Given the description of an element on the screen output the (x, y) to click on. 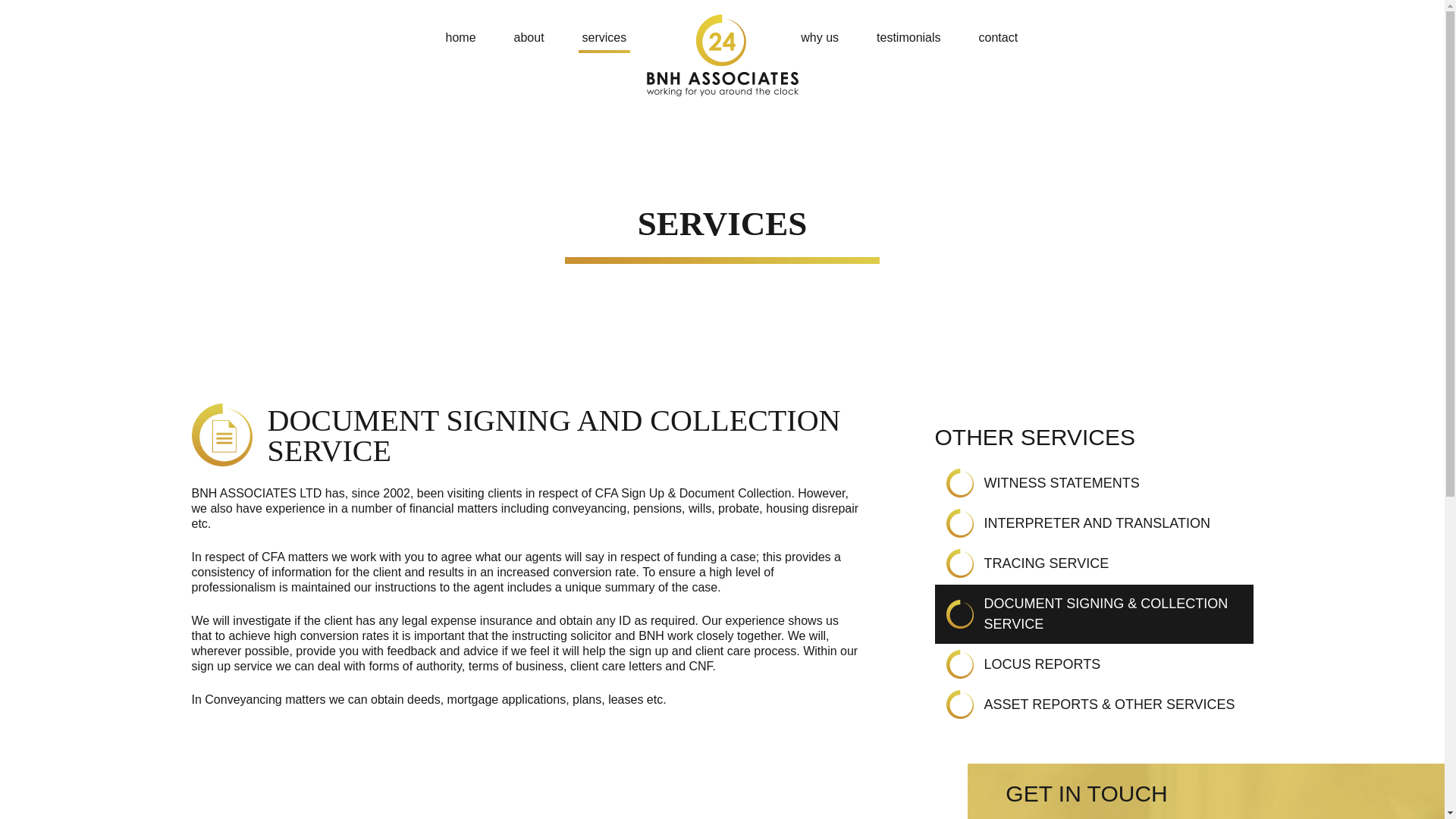
why us (819, 37)
services (604, 37)
testimonials (908, 37)
TRACING SERVICE (1046, 563)
LOCUS REPORTS (1042, 663)
contact (997, 37)
about (528, 37)
home (460, 37)
INTERPRETER AND TRANSLATION (1096, 522)
WITNESS STATEMENTS (1062, 482)
